Given the description of an element on the screen output the (x, y) to click on. 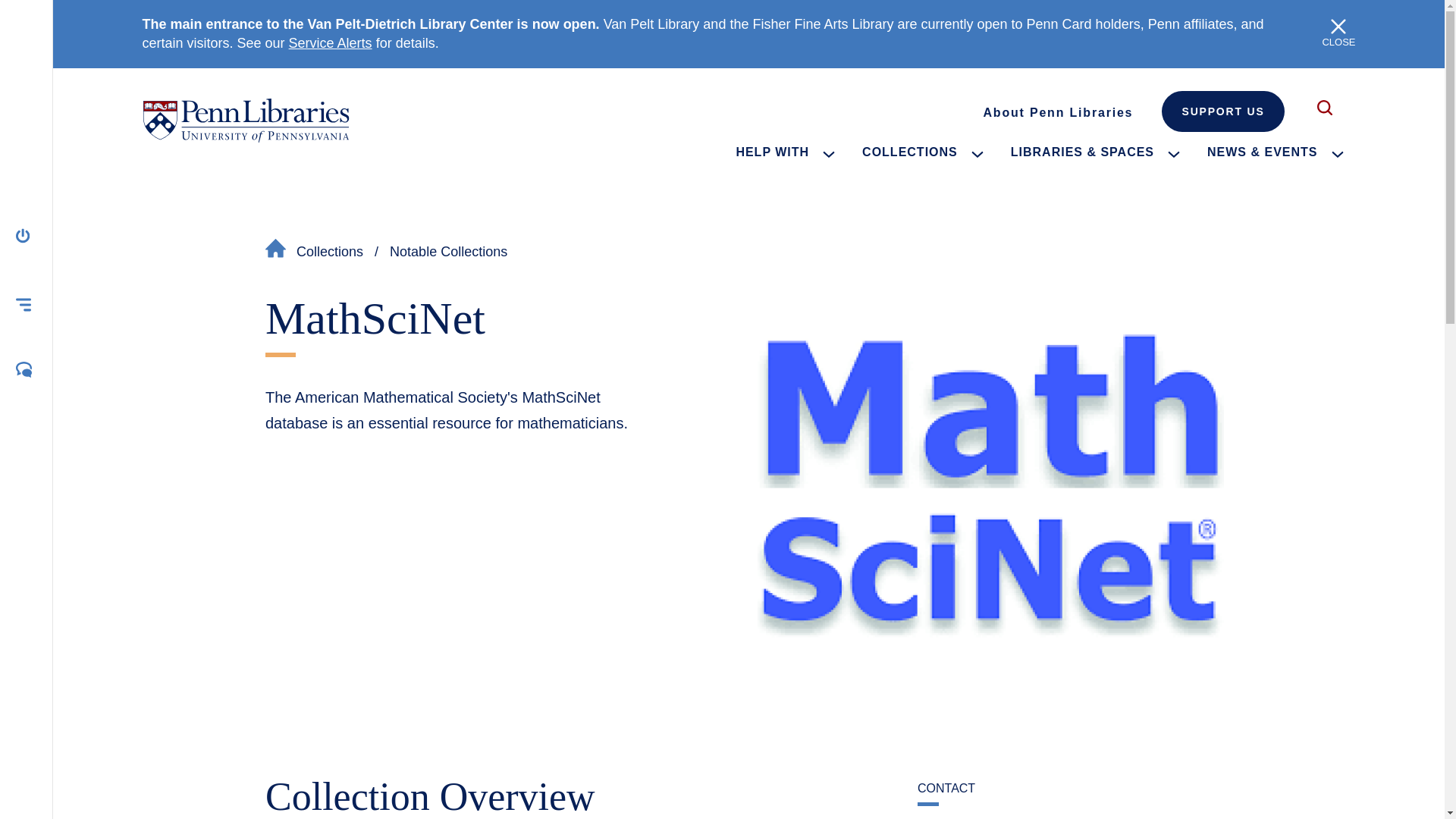
Support UsSupport Us (1222, 110)
Penn Libraries logo (245, 120)
